Given the description of an element on the screen output the (x, y) to click on. 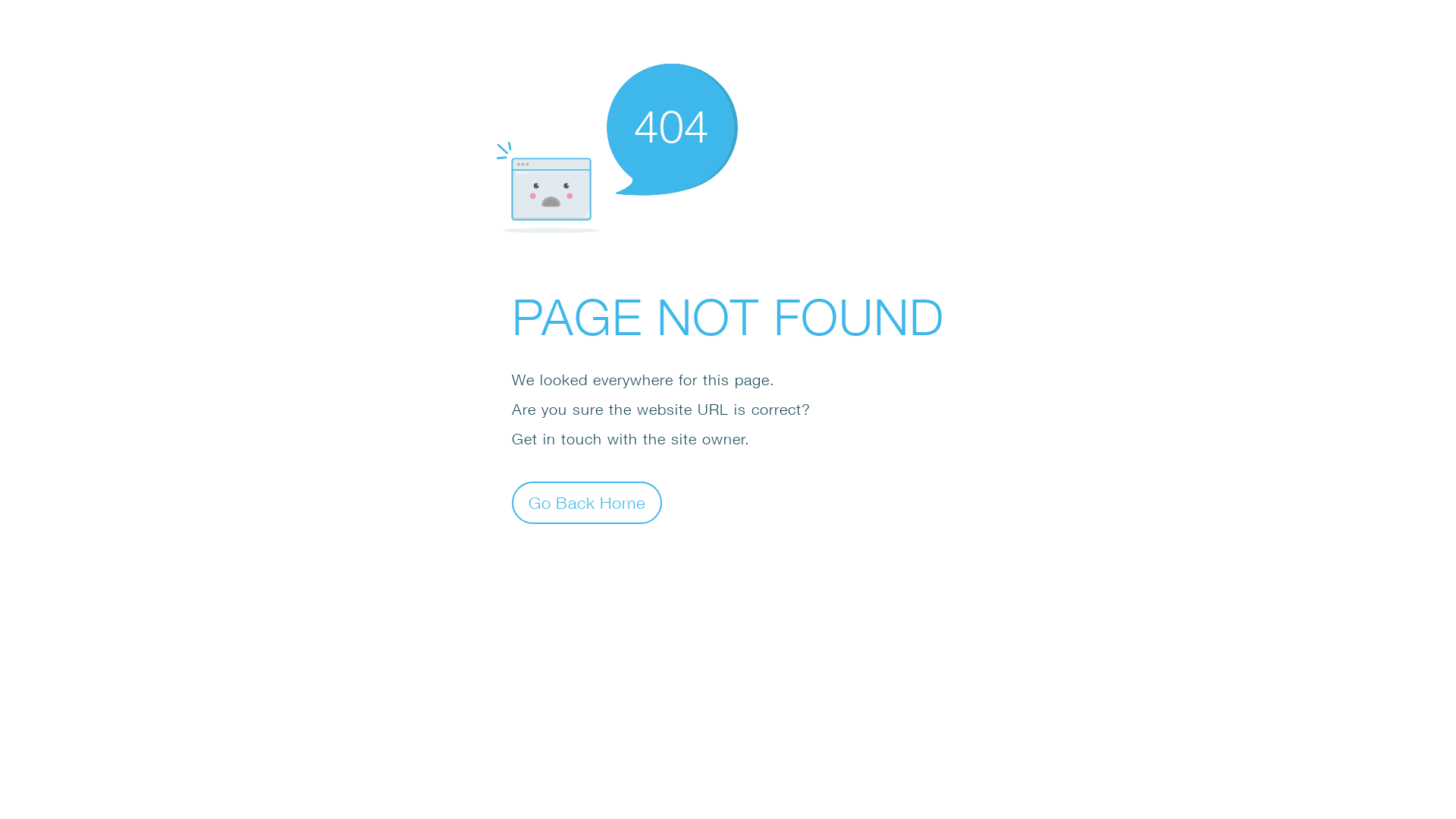
Go Back Home Element type: text (586, 502)
